Given the description of an element on the screen output the (x, y) to click on. 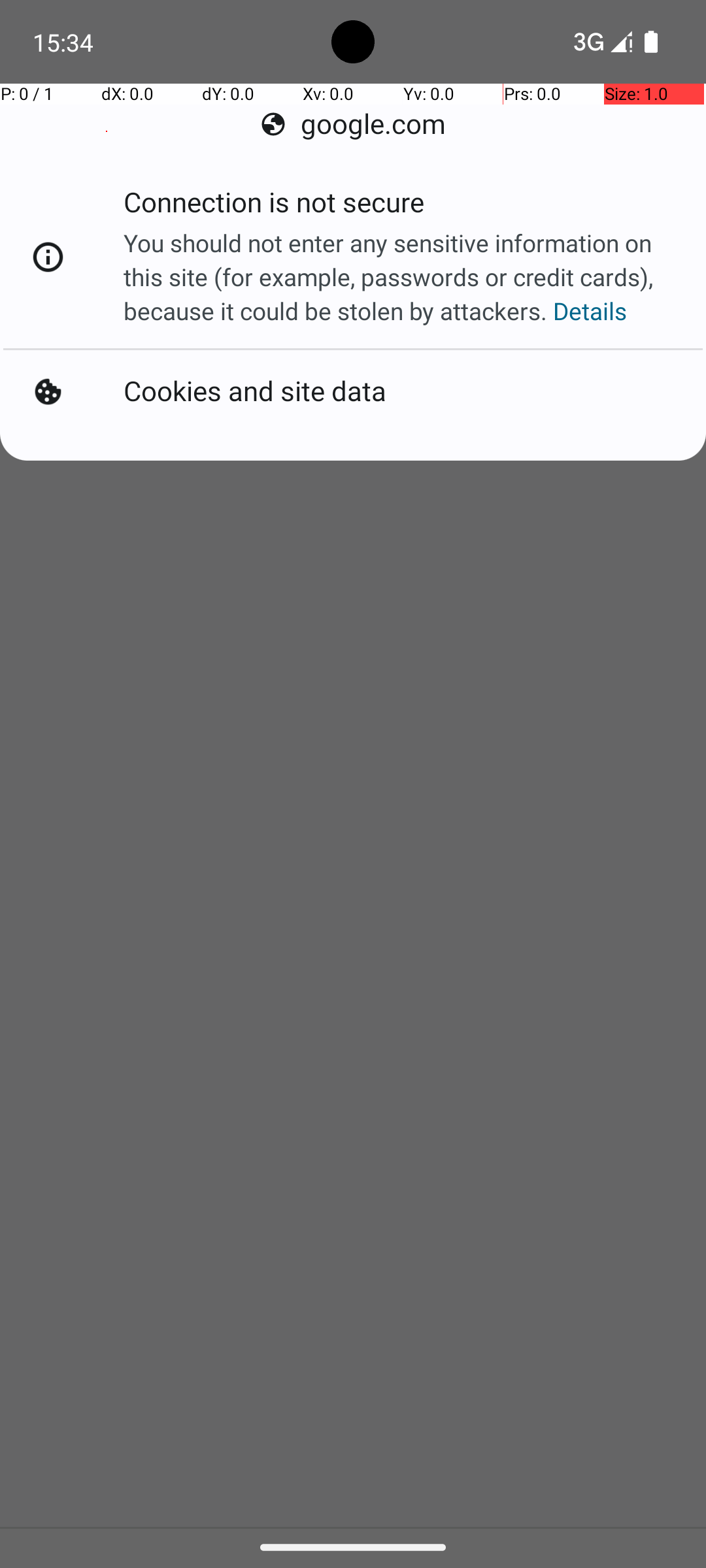
Connection is not secure Element type: android.widget.TextView (273, 206)
You should not enter any sensitive information on this site (for example, passwords or credit cards), because it could be stolen by attackers. Details Element type: android.widget.TextView (400, 276)
Cookies and site data Element type: android.widget.TextView (254, 391)
